Given the description of an element on the screen output the (x, y) to click on. 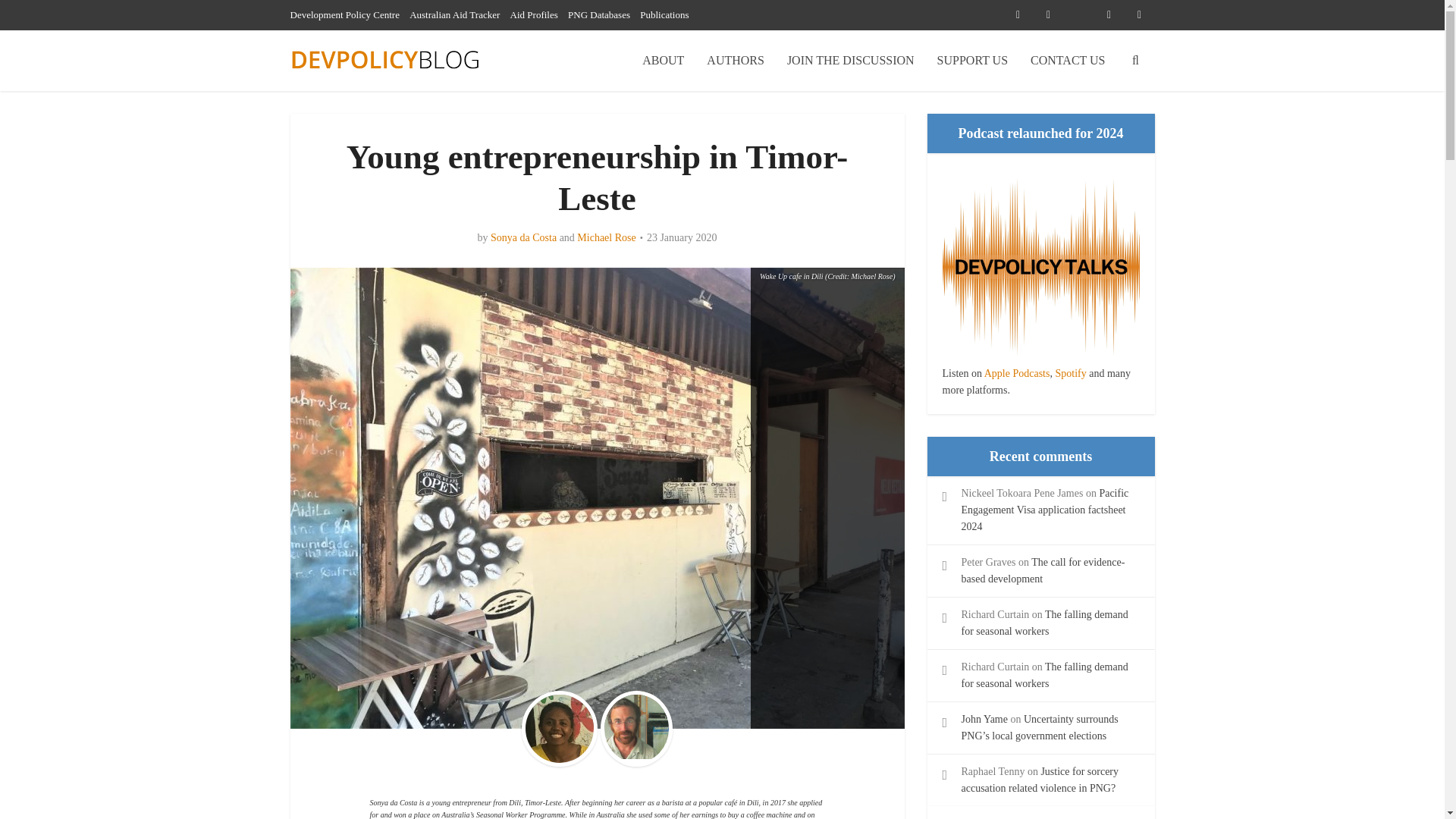
Michael Rose (605, 237)
Aid Profiles (534, 14)
PNG Databases (598, 14)
SUPPORT US (972, 60)
Australian Aid Tracker (454, 14)
Development Policy Centre (343, 14)
JOIN THE DISCUSSION (851, 60)
ABOUT (662, 60)
AUTHORS (735, 60)
Sonya da Costa (523, 237)
Publications (664, 14)
CONTACT US (1067, 60)
